Given the description of an element on the screen output the (x, y) to click on. 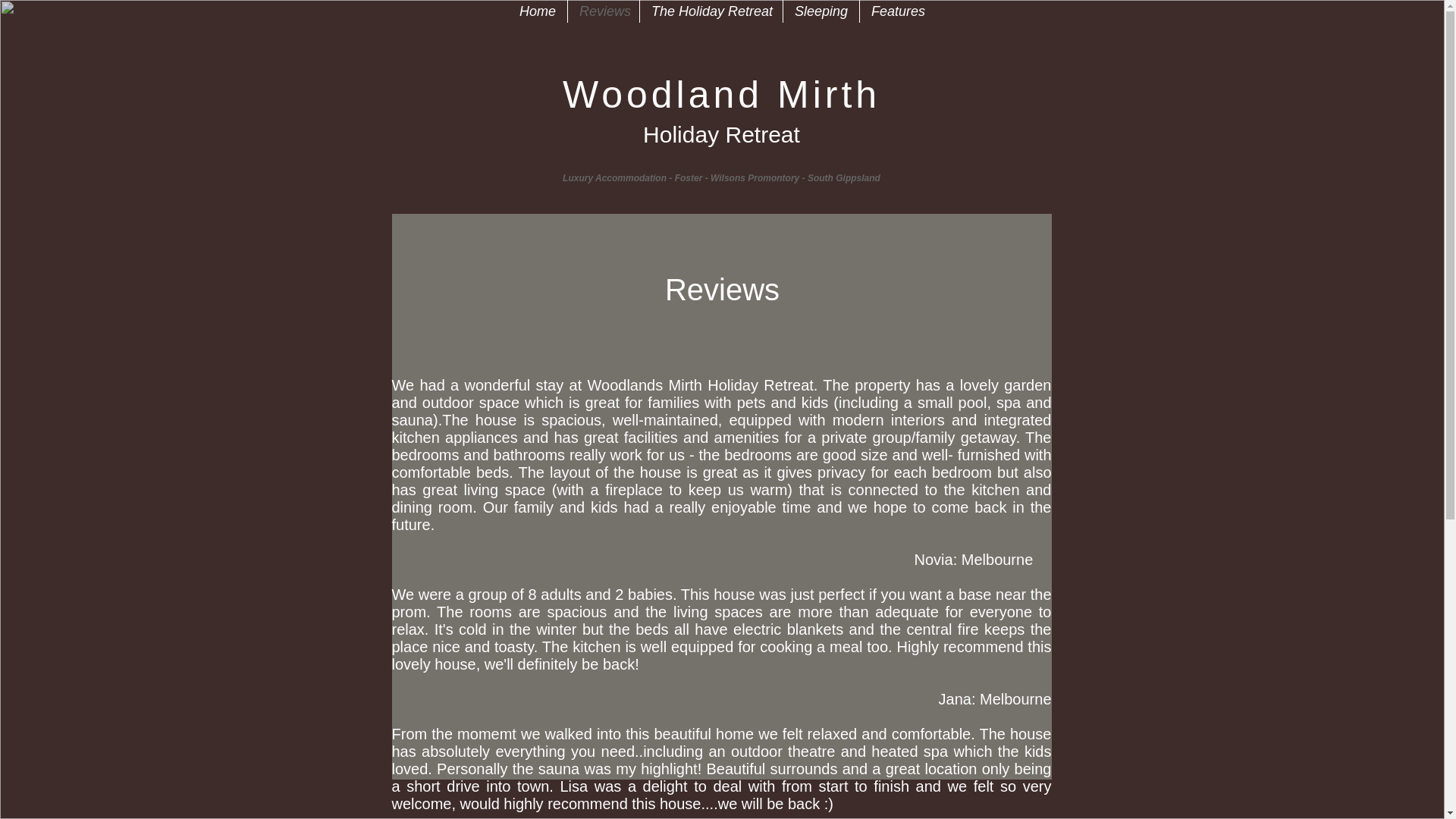
Holiday Retreat (721, 134)
Reviews (603, 11)
Sleeping (821, 11)
Woodland Mirth (721, 94)
Home (536, 11)
The Holiday Retreat (711, 11)
